Given the description of an element on the screen output the (x, y) to click on. 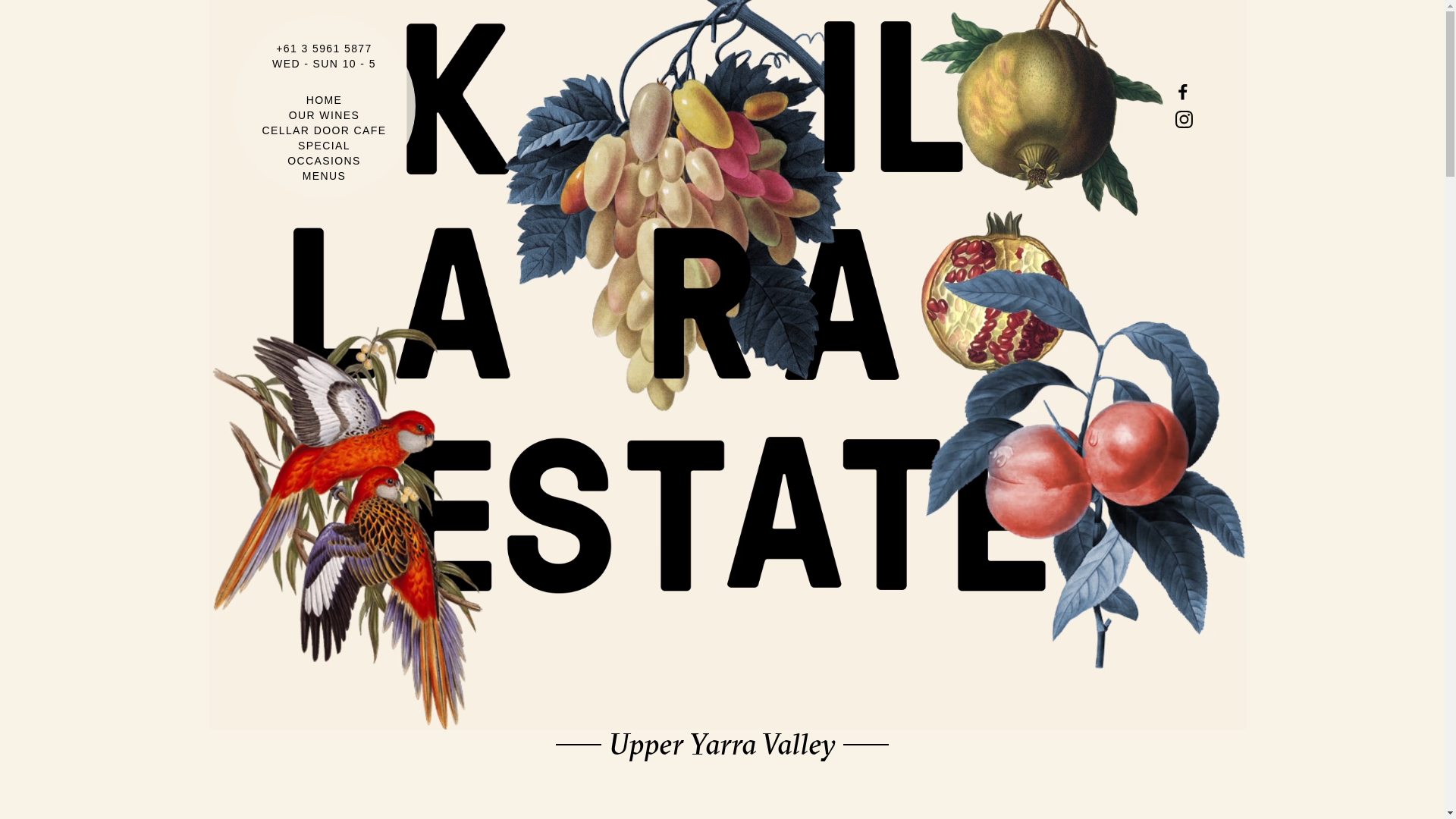
MENUS Element type: text (324, 175)
CELLAR DOOR CAFE Element type: text (324, 130)
OUR WINES Element type: text (324, 115)
SPECIAL OCCASIONS Element type: text (323, 152)
HOME Element type: text (324, 100)
